Given the description of an element on the screen output the (x, y) to click on. 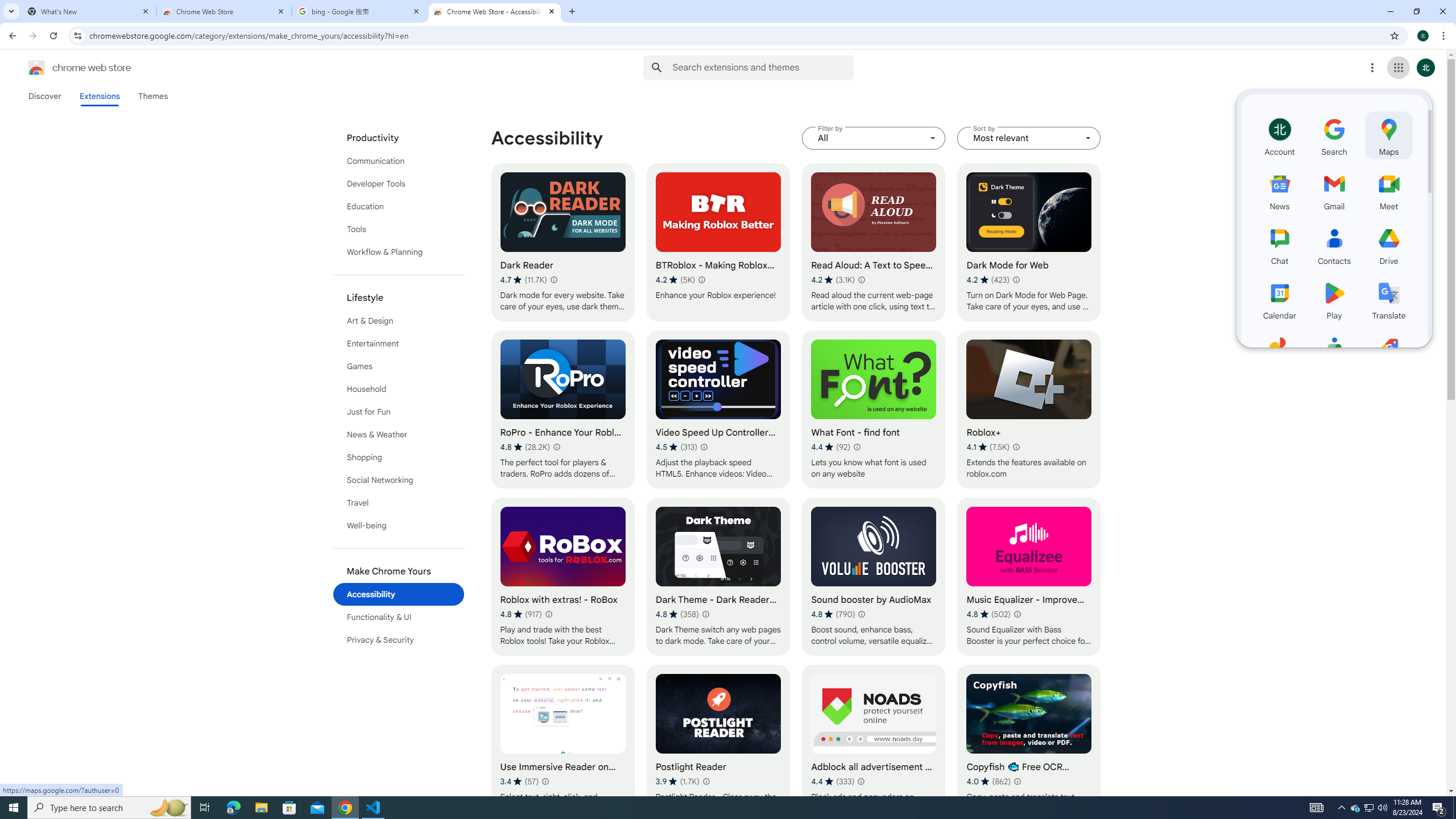
RoPro - Enhance Your Roblox Experience (562, 409)
Learn more about results and reviews "Postlight Reader" (705, 780)
Chrome Web Store - Accessibility (494, 11)
Average rating 4.8 out of 5 stars. 358 ratings. (676, 613)
Search input (762, 67)
Average rating 4.2 out of 5 stars. 5K ratings. (675, 279)
Search tabs (10, 11)
Average rating 4.8 out of 5 stars. 917 ratings. (520, 613)
